Given the description of an element on the screen output the (x, y) to click on. 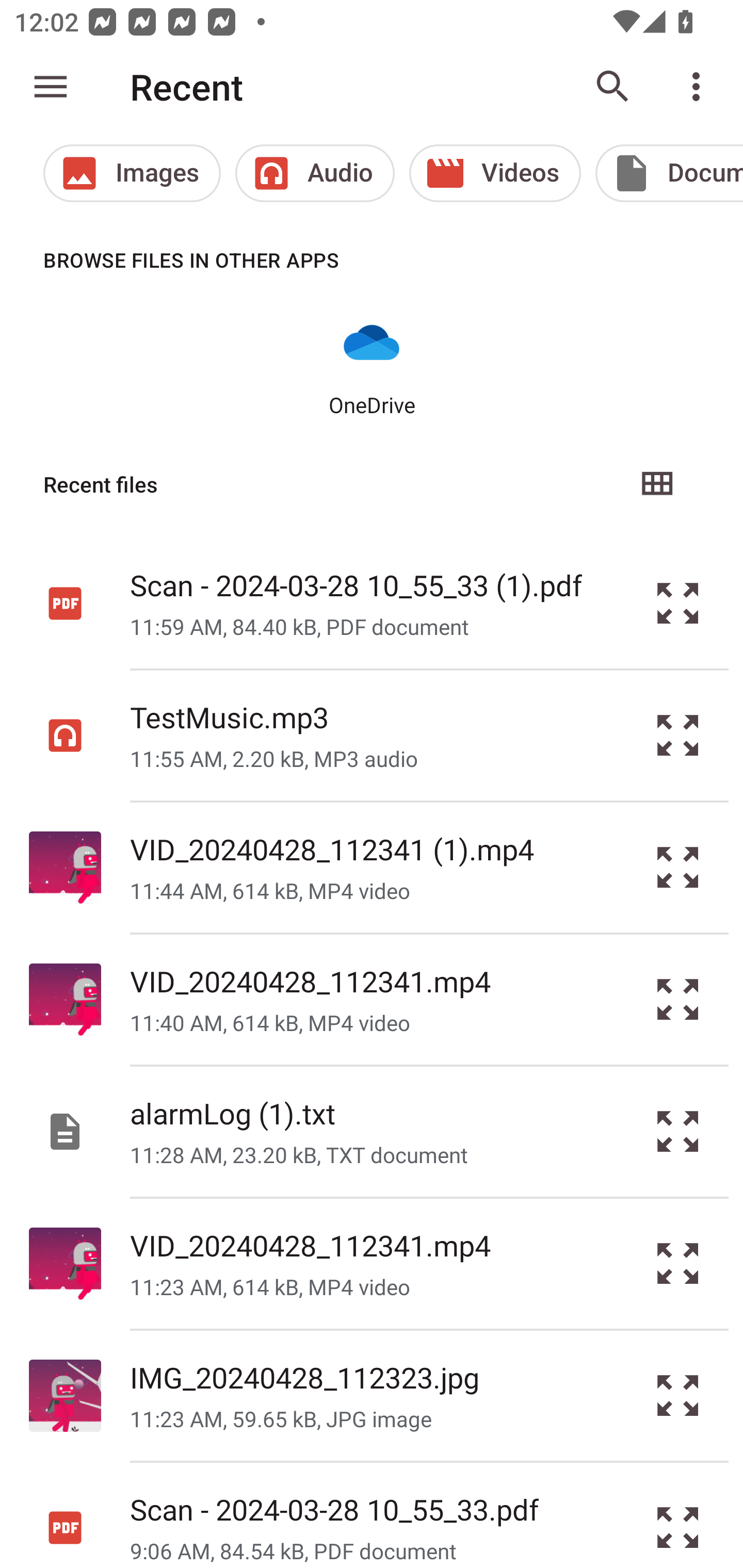
Show roots (50, 86)
Search (612, 86)
More options (699, 86)
Images (131, 173)
Audio (314, 173)
Videos (495, 173)
Documents (669, 173)
OneDrive (371, 365)
Grid view (655, 484)
Preview the file TestMusic.mp3 (677, 736)
Preview the file VID_20240428_112341 (1).mp4 (677, 867)
Preview the file VID_20240428_112341.mp4 (677, 999)
Preview the file alarmLog (1).txt (677, 1131)
Preview the file VID_20240428_112341.mp4 (677, 1262)
Preview the file IMG_20240428_112323.jpg (677, 1396)
Preview the file Scan - 2024-03-28 10_55_33.pdf (677, 1515)
